Given the description of an element on the screen output the (x, y) to click on. 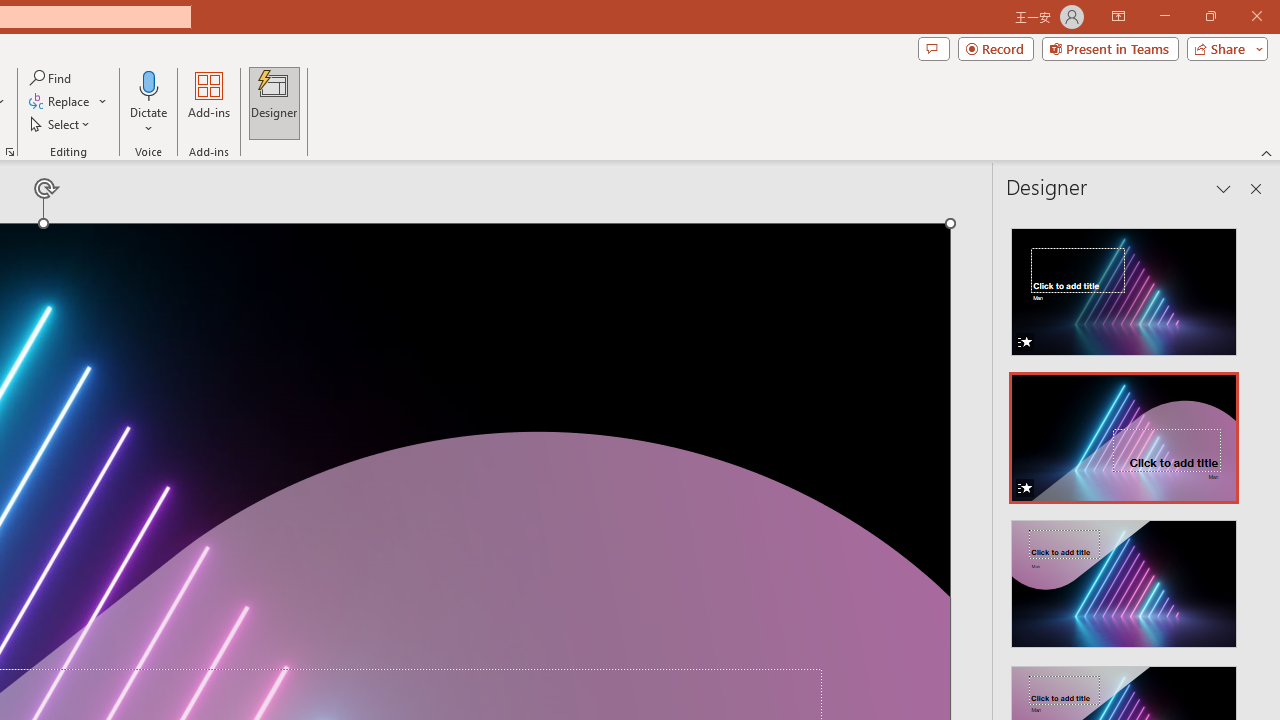
Recommended Design: Animation (1124, 286)
